Given the description of an element on the screen output the (x, y) to click on. 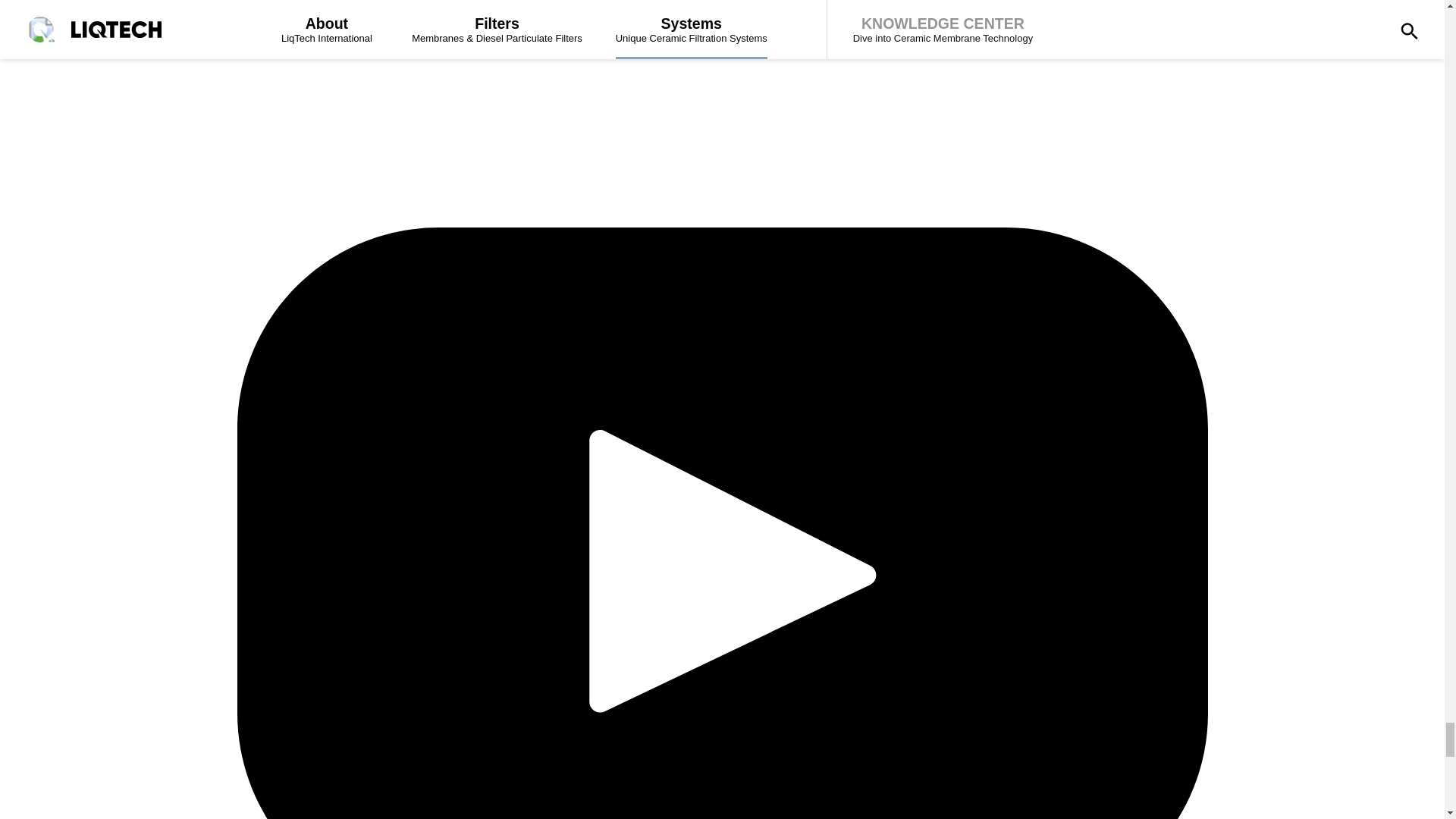
Twitter (721, 77)
